Given the description of an element on the screen output the (x, y) to click on. 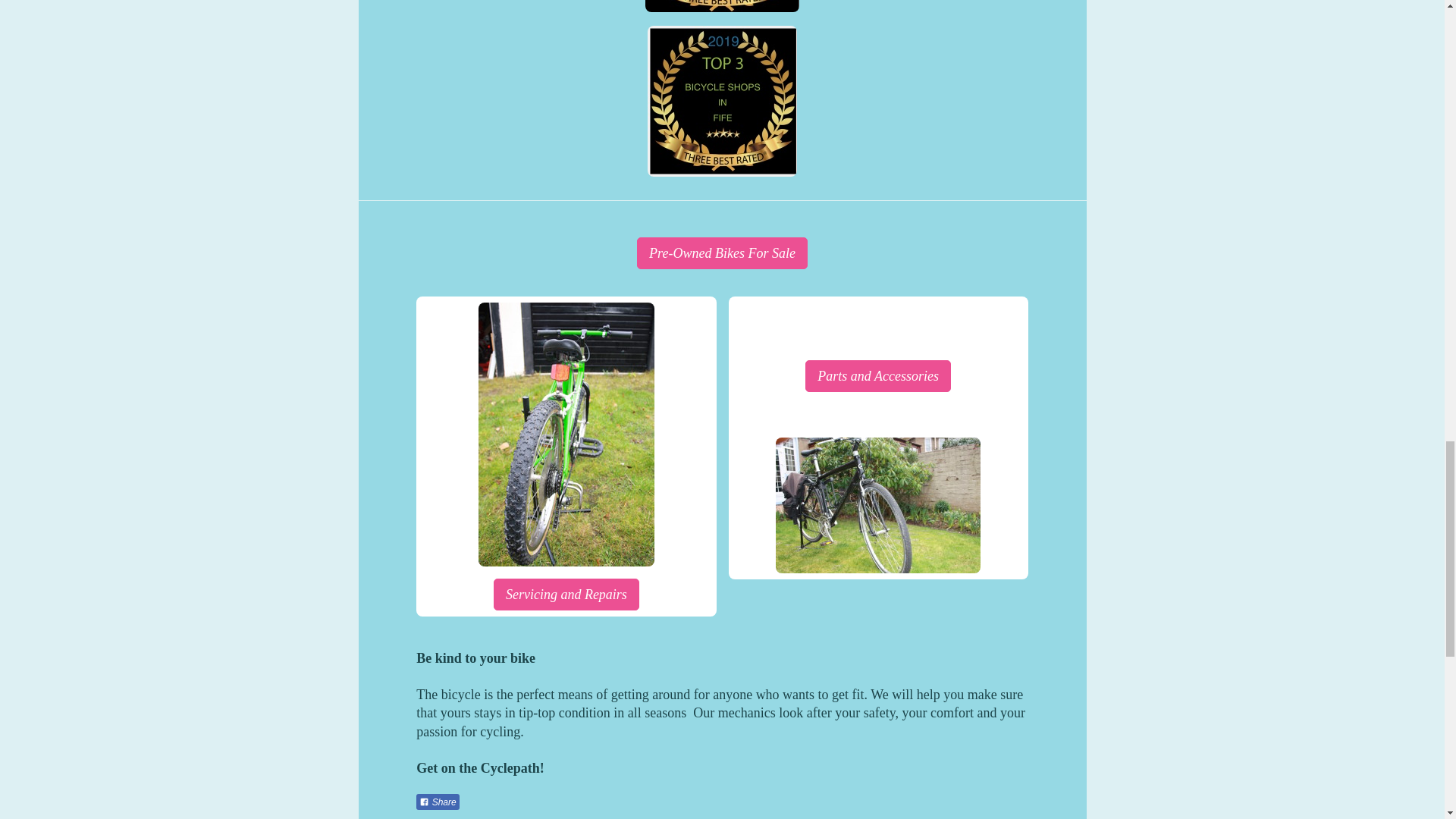
Parts and Accessories (877, 376)
Servicing and Repairs (566, 594)
Pre-Owned Bikes For Sale (722, 253)
Share (437, 801)
